Given the description of an element on the screen output the (x, y) to click on. 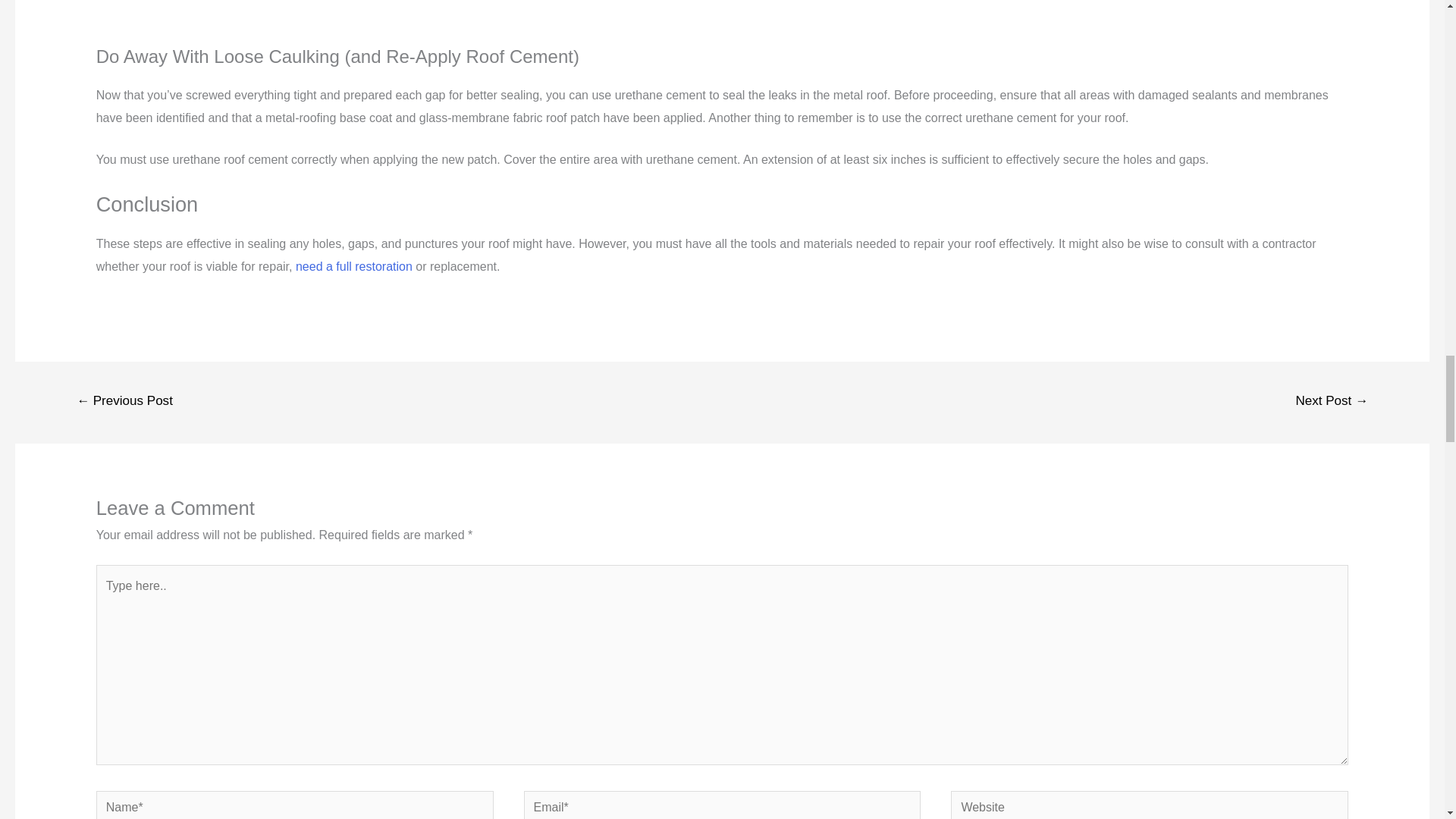
need a full restoration (353, 266)
